Given the description of an element on the screen output the (x, y) to click on. 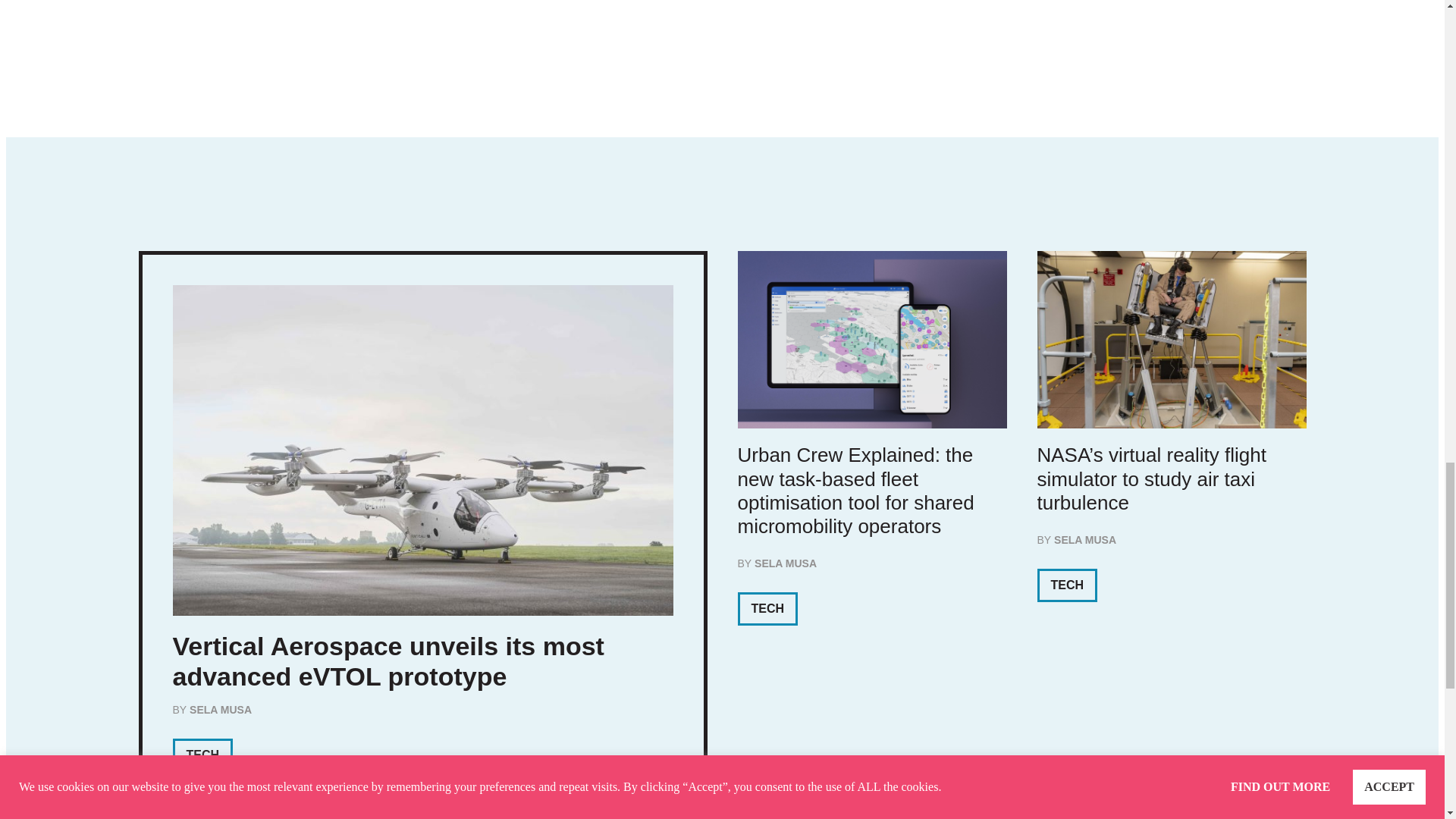
TECH (1066, 584)
TECH (766, 608)
TECH (202, 755)
Vertical Aerospace unveils its most advanced eVTOL prototype (388, 661)
